Given the description of an element on the screen output the (x, y) to click on. 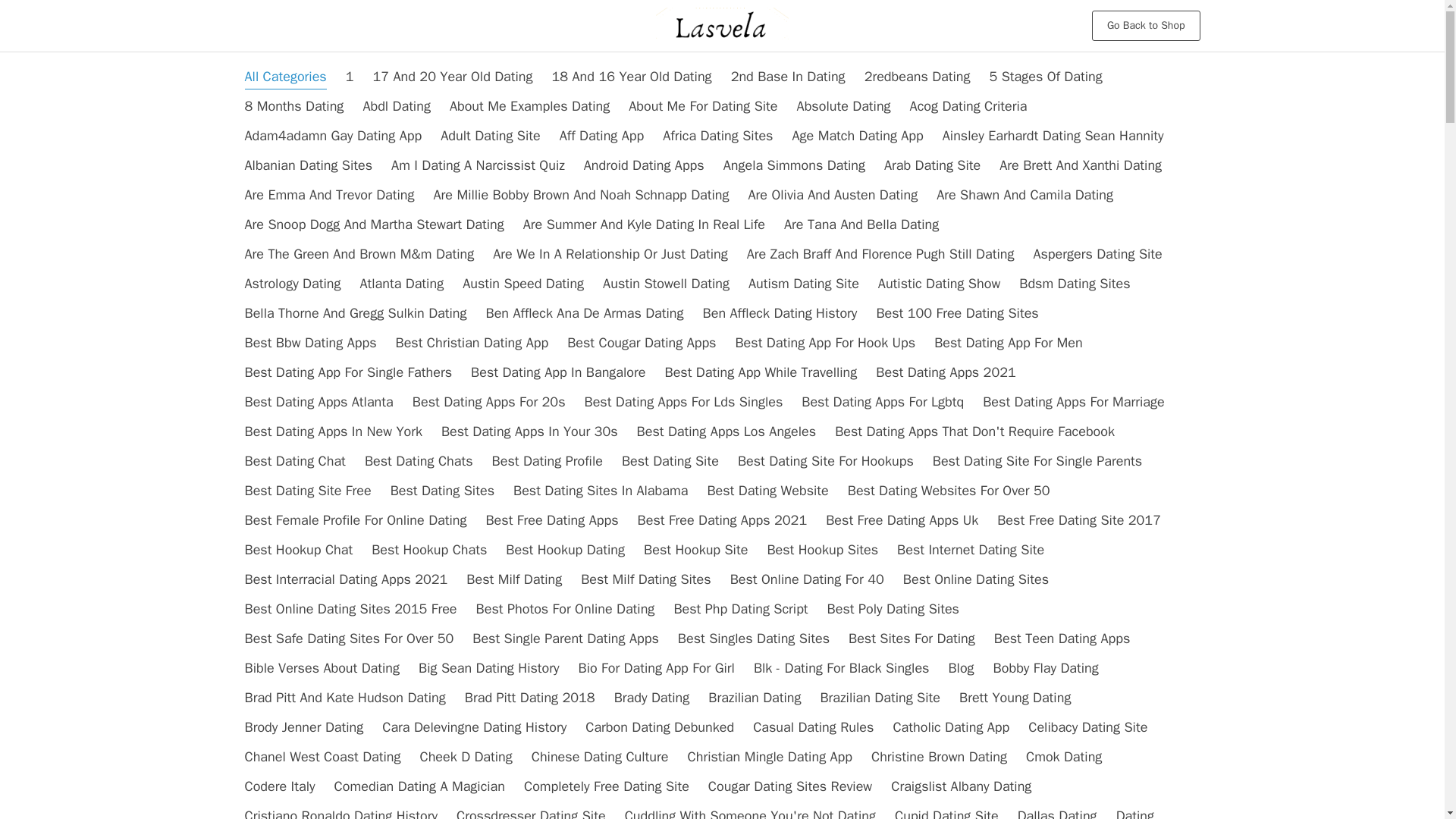
Are Tana And Bella Dating (861, 224)
Astrology Dating (292, 283)
17 And 20 Year Old Dating (452, 76)
All Categories (285, 76)
Are Brett And Xanthi Dating (1079, 165)
Adult Dating Site (490, 135)
Ainsley Earhardt Dating Sean Hannity (1052, 135)
About Me Examples Dating (529, 106)
Are Olivia And Austen Dating (833, 194)
Are Snoop Dogg And Martha Stewart Dating (373, 224)
